Given the description of an element on the screen output the (x, y) to click on. 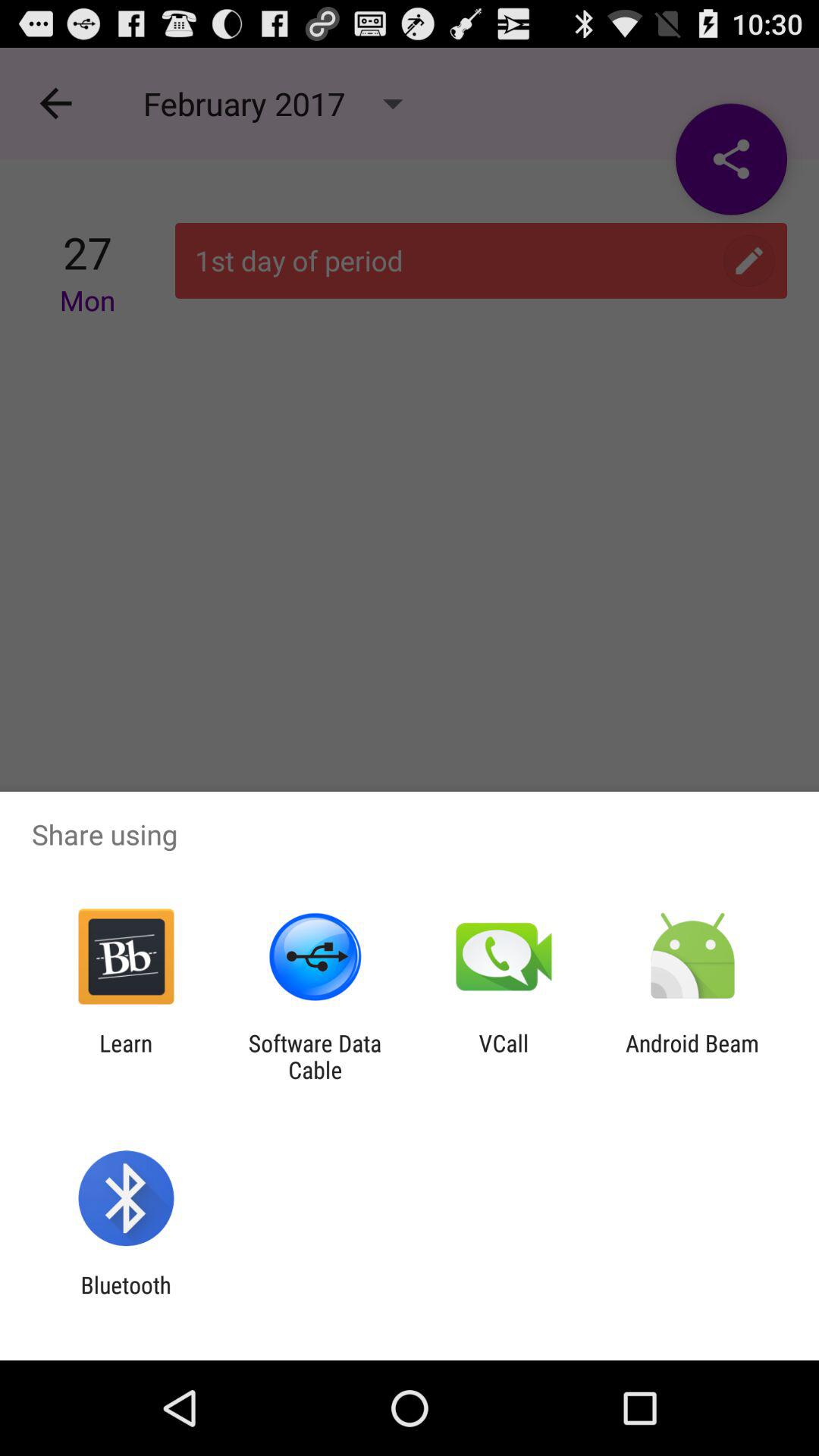
choose item to the right of learn icon (314, 1056)
